Given the description of an element on the screen output the (x, y) to click on. 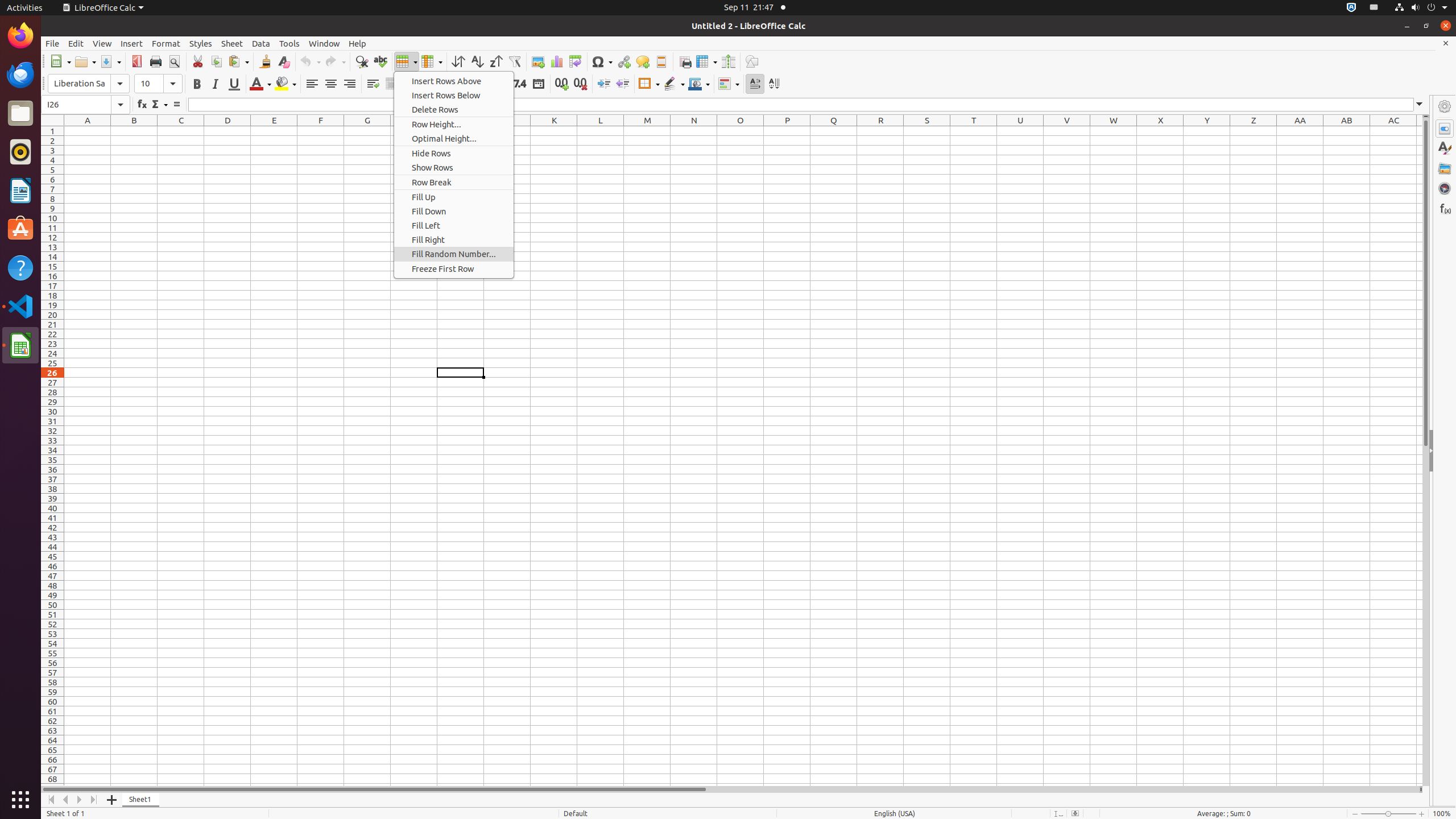
Trash Element type: label (75, 108)
LibreOffice Calc Element type: push-button (20, 344)
